Given the description of an element on the screen output the (x, y) to click on. 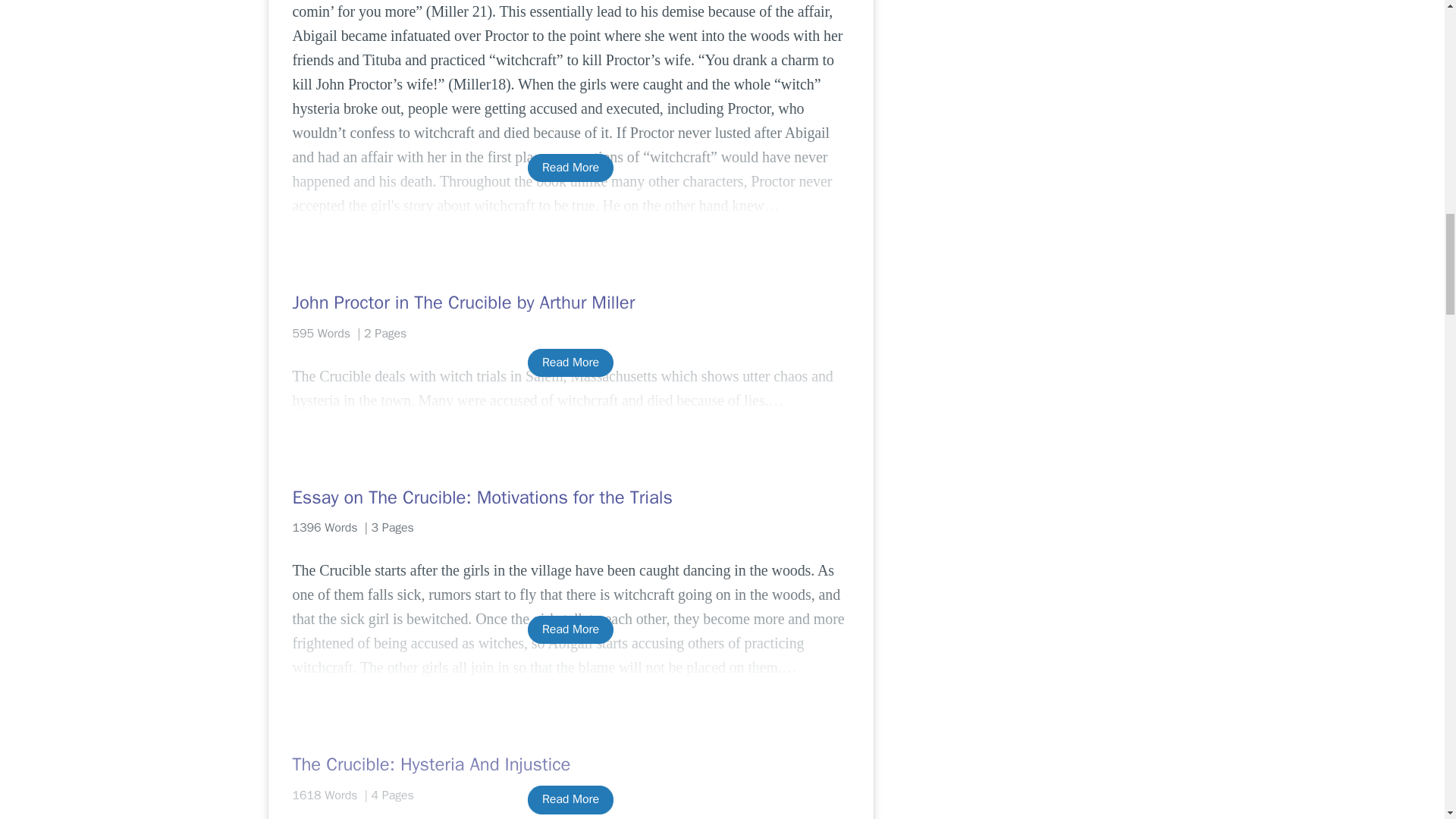
John Proctor in The Crucible by Arthur Miller (570, 302)
Read More (569, 799)
Read More (569, 362)
Read More (569, 167)
Essay on The Crucible: Motivations for the Trials (570, 497)
The Crucible: Hysteria And Injustice (570, 764)
Read More (569, 629)
